Given the description of an element on the screen output the (x, y) to click on. 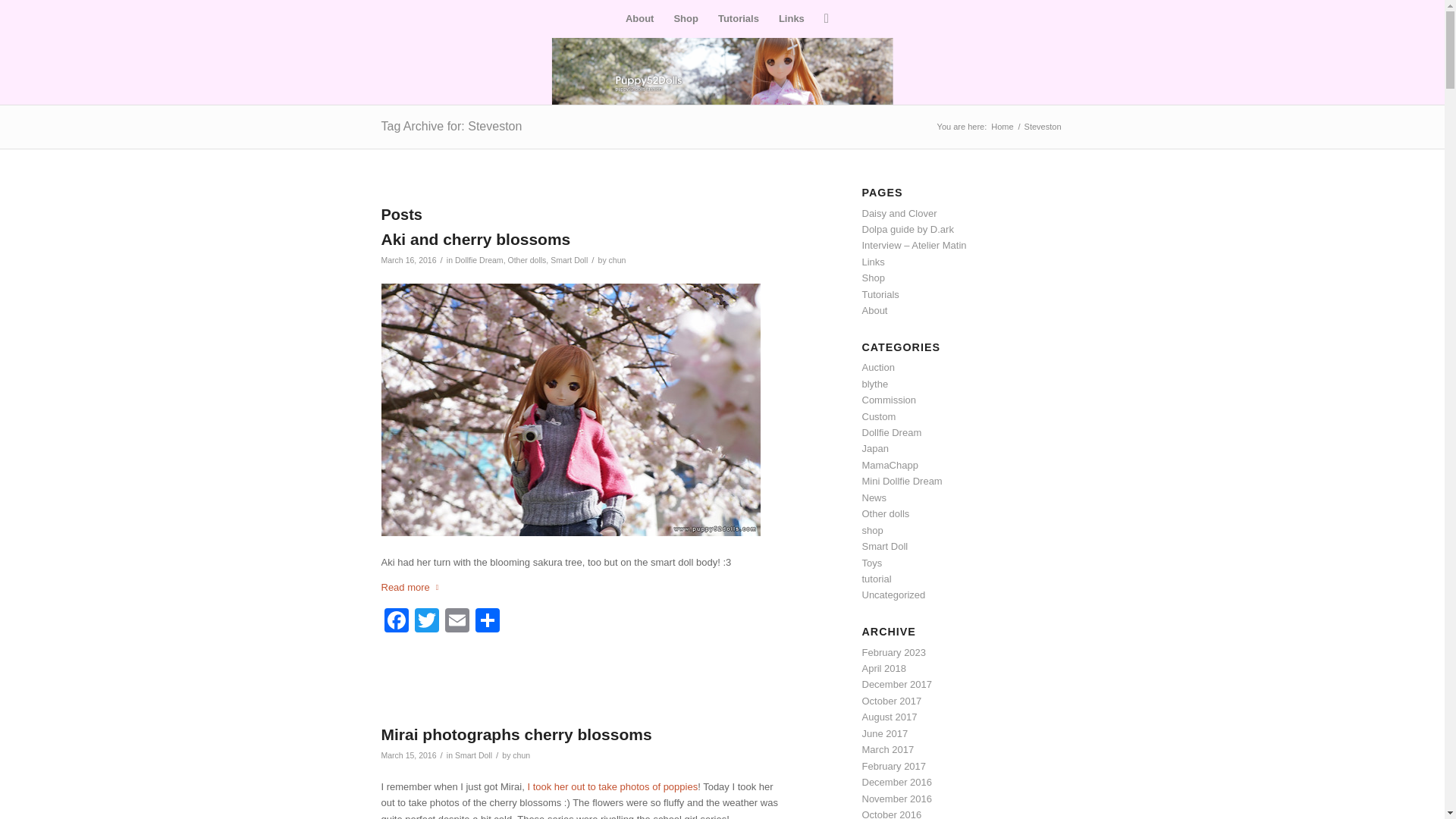
I took her out to take photos of poppies (612, 786)
Tutorials (737, 18)
Permanent Link: Tag Archive for: Steveston (450, 125)
Dollfie Dream (478, 259)
Twitter (425, 622)
Tag Archive for: Steveston (450, 125)
Posts by chun (617, 259)
Email (456, 622)
About (639, 18)
Other dolls (526, 259)
Smart Doll (569, 259)
Links (790, 18)
Posts by chun (520, 755)
chun (617, 259)
Puppy52Dolls (1001, 126)
